Given the description of an element on the screen output the (x, y) to click on. 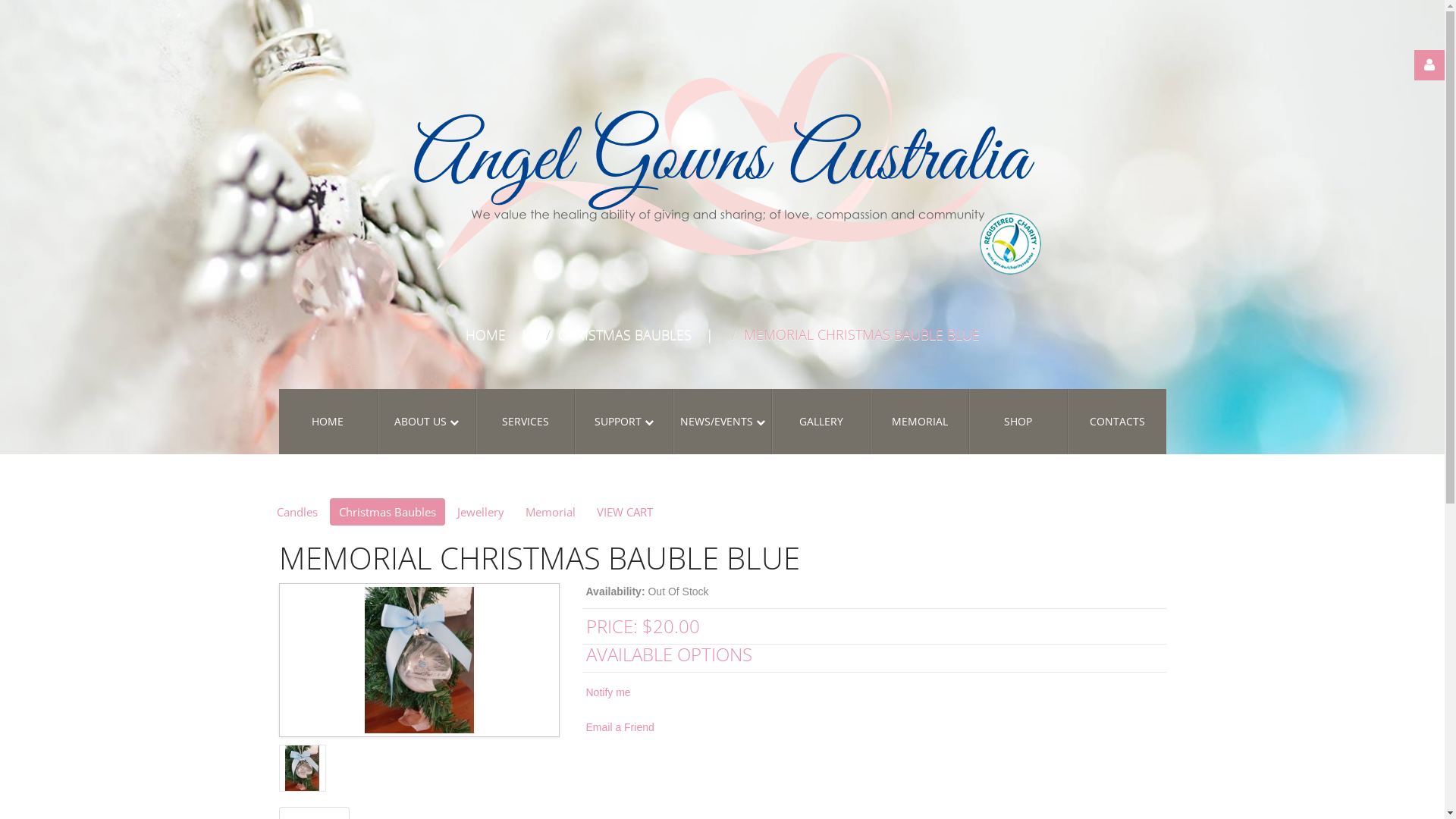
CHRISTMAS BAUBLES Element type: text (624, 334)
NEWS/EVENTS Element type: text (722, 421)
SERVICES Element type: text (525, 421)
VIEW CART Element type: text (623, 511)
Email a Friend Element type: text (619, 727)
HOME Element type: text (485, 334)
Memorial Element type: text (549, 511)
MEMORIAL Element type: text (919, 421)
Candles Element type: text (296, 511)
Notify me Element type: text (607, 692)
GALLERY Element type: text (820, 421)
CONTACTS Element type: text (1116, 421)
Christmas Baubles Element type: text (386, 511)
HOME Element type: text (328, 421)
SUPPORT Element type: text (623, 421)
Memorial Christmas Bauble Blue Element type: hover (418, 659)
ABOUT US Element type: text (426, 421)
SHOP Element type: text (1018, 421)
Jewellery Element type: text (479, 511)
